Given the description of an element on the screen output the (x, y) to click on. 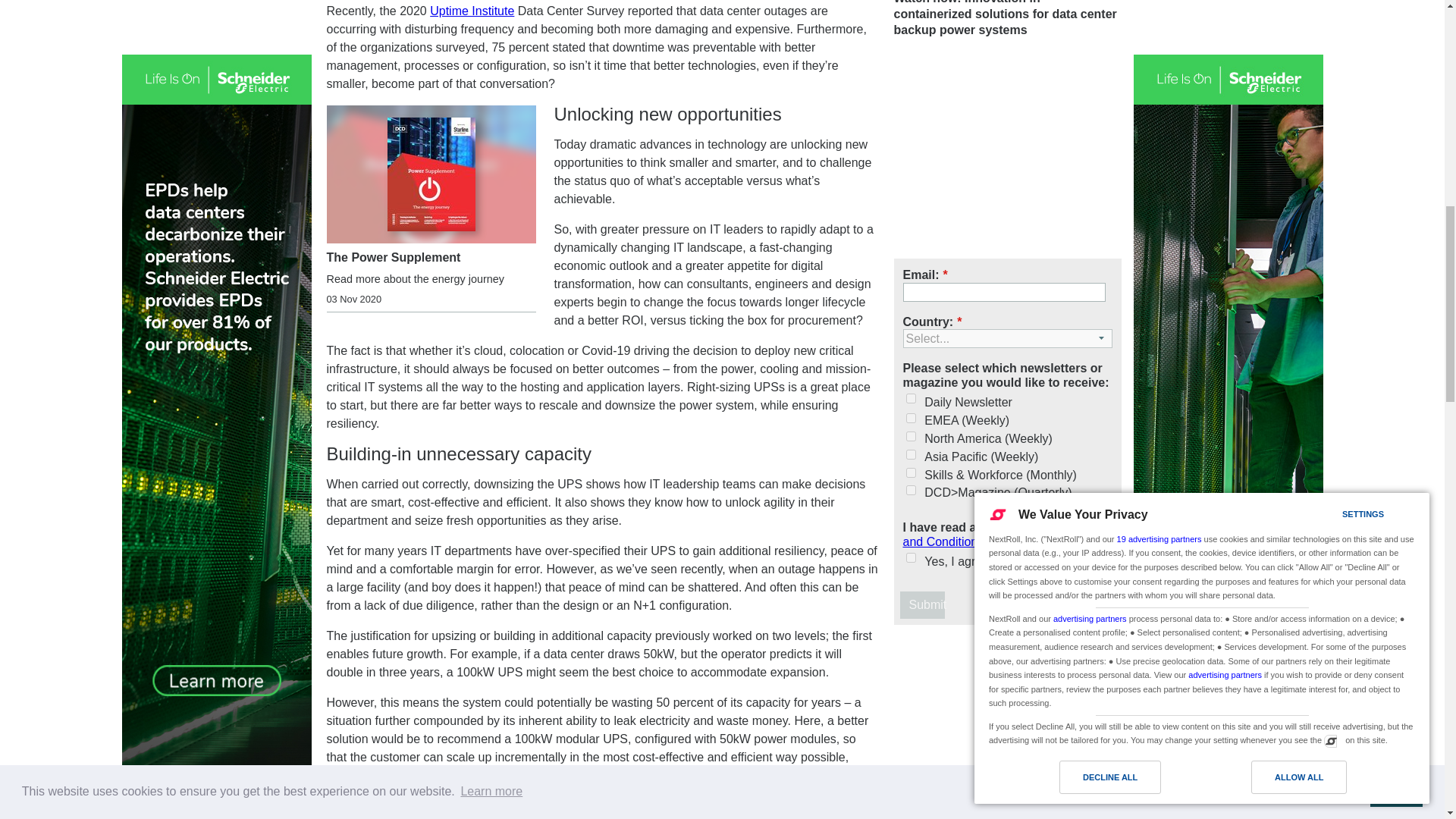
Weekly EMEA newsletter (910, 418)
Weekly North American newsletter (910, 436)
Daily global newsletter (910, 398)
NLWOS (910, 471)
DMAG (910, 490)
3rd party ad content (1007, 151)
Fortnightly Asia newsletter (910, 454)
yes (910, 557)
3rd party ad content (1007, 728)
